Given the description of an element on the screen output the (x, y) to click on. 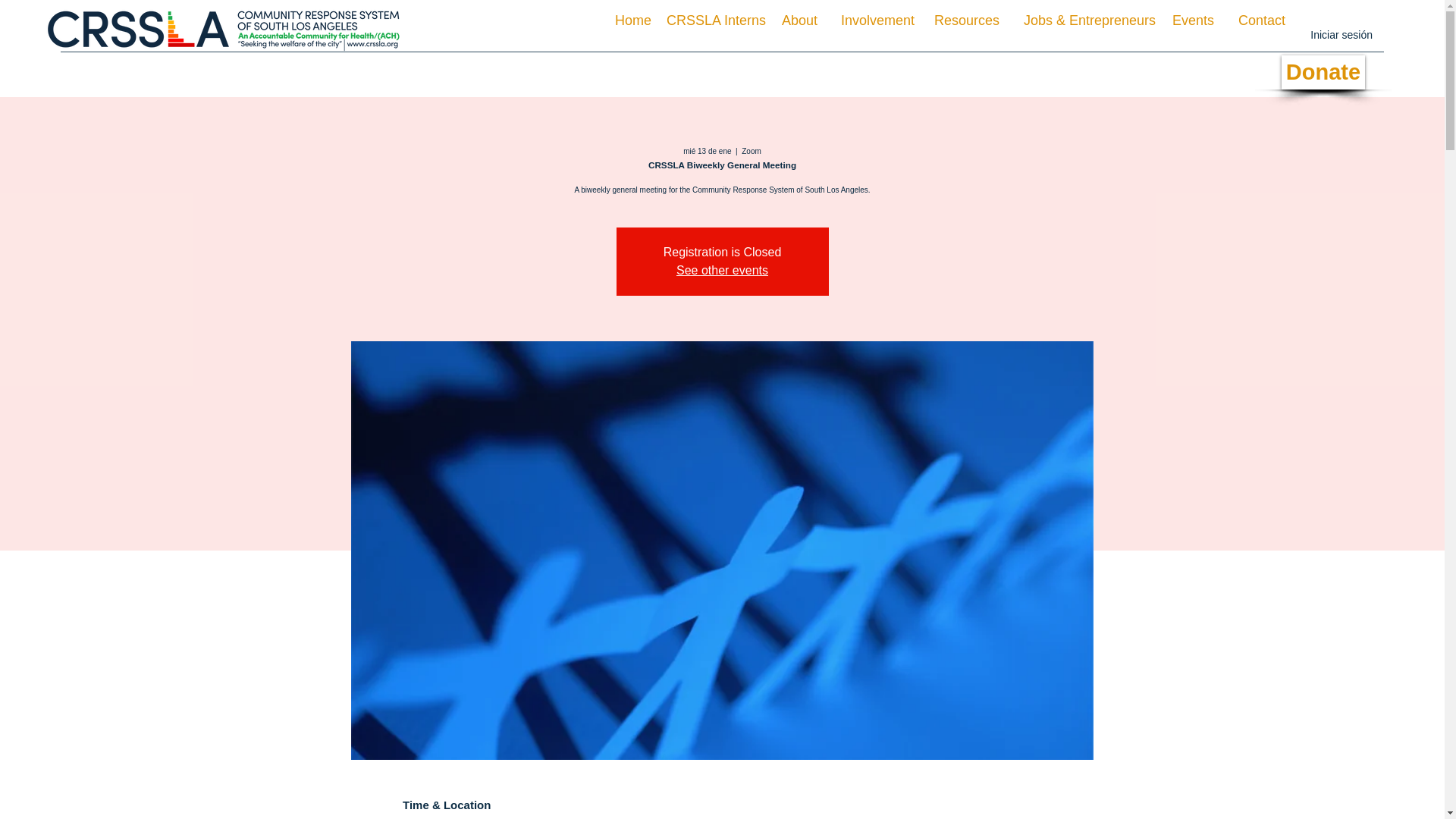
See other events (722, 269)
About (797, 20)
CRSSLA Interns (714, 20)
Donate (1323, 72)
Involvement (873, 20)
Events (1192, 20)
Contact (1256, 20)
Home (631, 20)
Resources (964, 20)
